Given the description of an element on the screen output the (x, y) to click on. 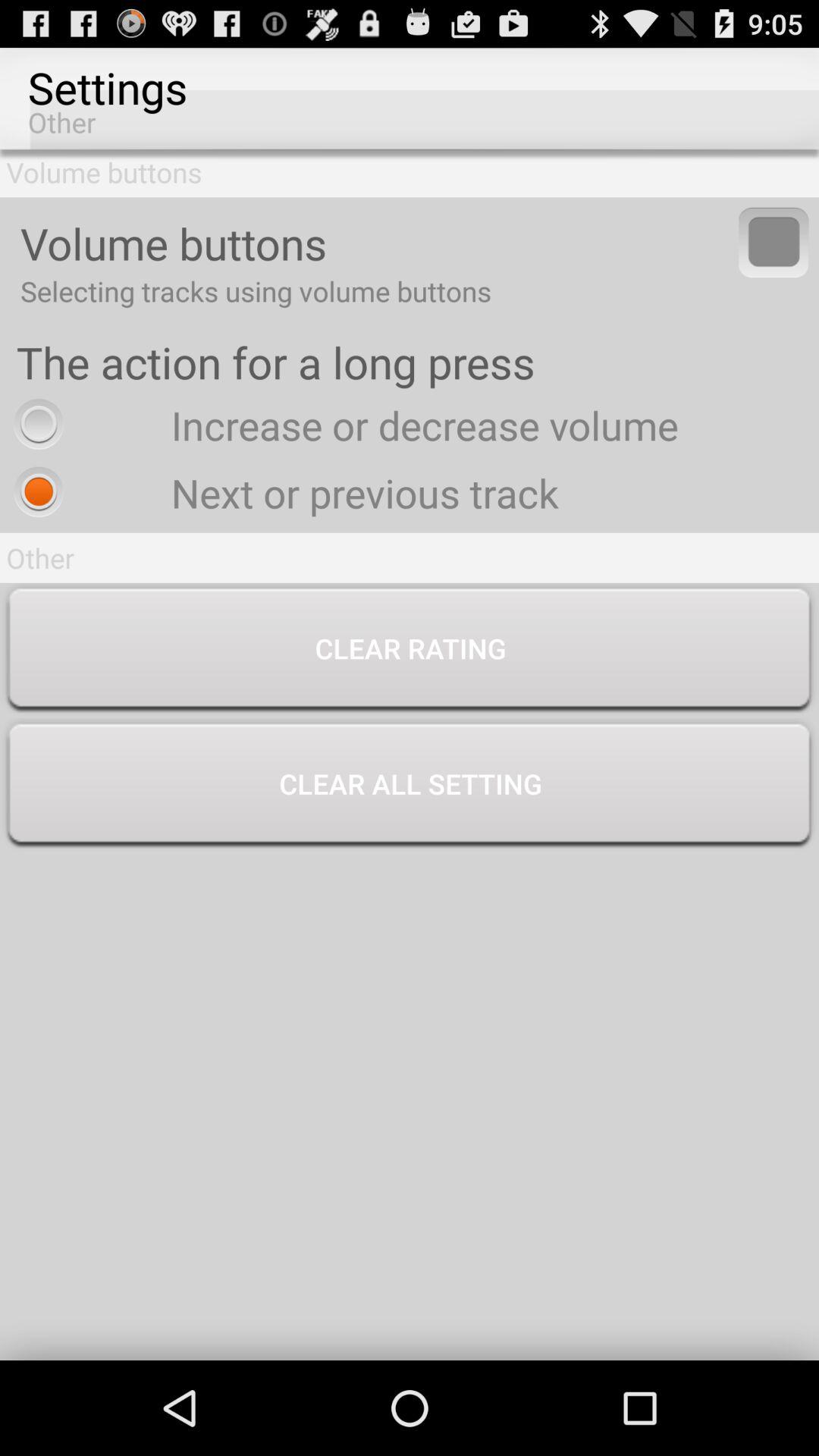
flip until clear all setting icon (409, 785)
